Given the description of an element on the screen output the (x, y) to click on. 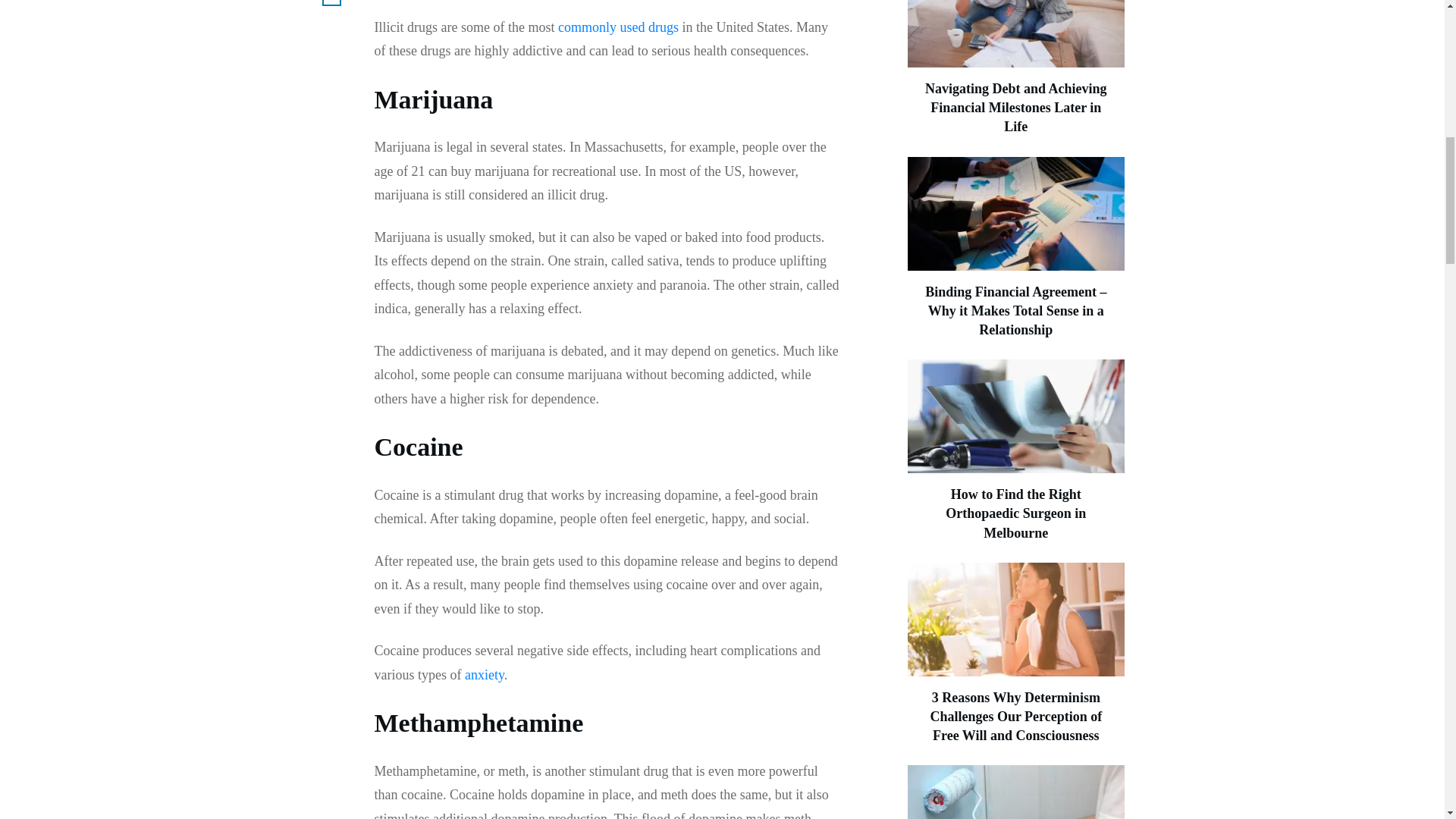
anxiety (483, 674)
commonly used drugs (617, 27)
